Given the description of an element on the screen output the (x, y) to click on. 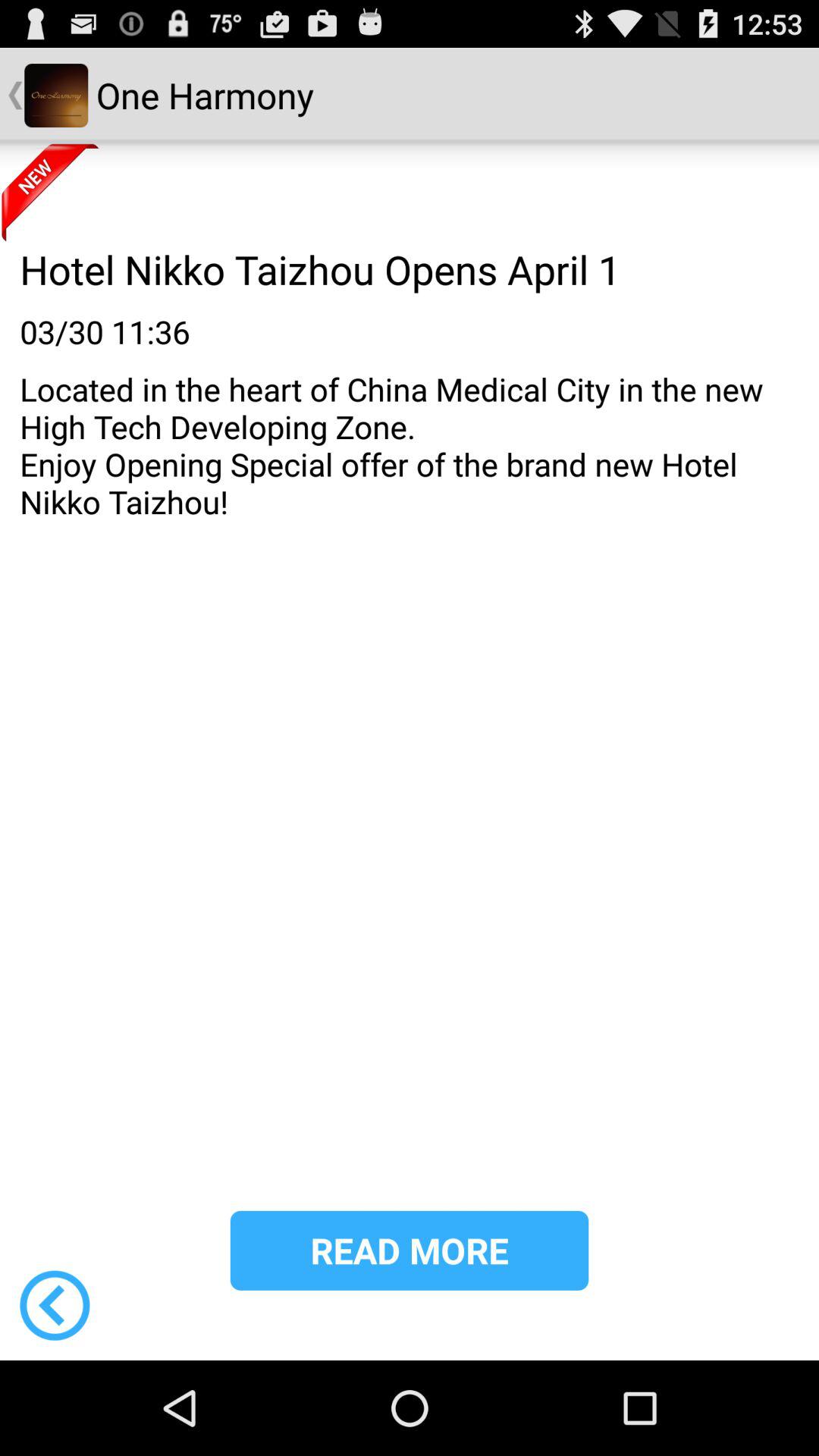
choose the item at the bottom left corner (54, 1305)
